Given the description of an element on the screen output the (x, y) to click on. 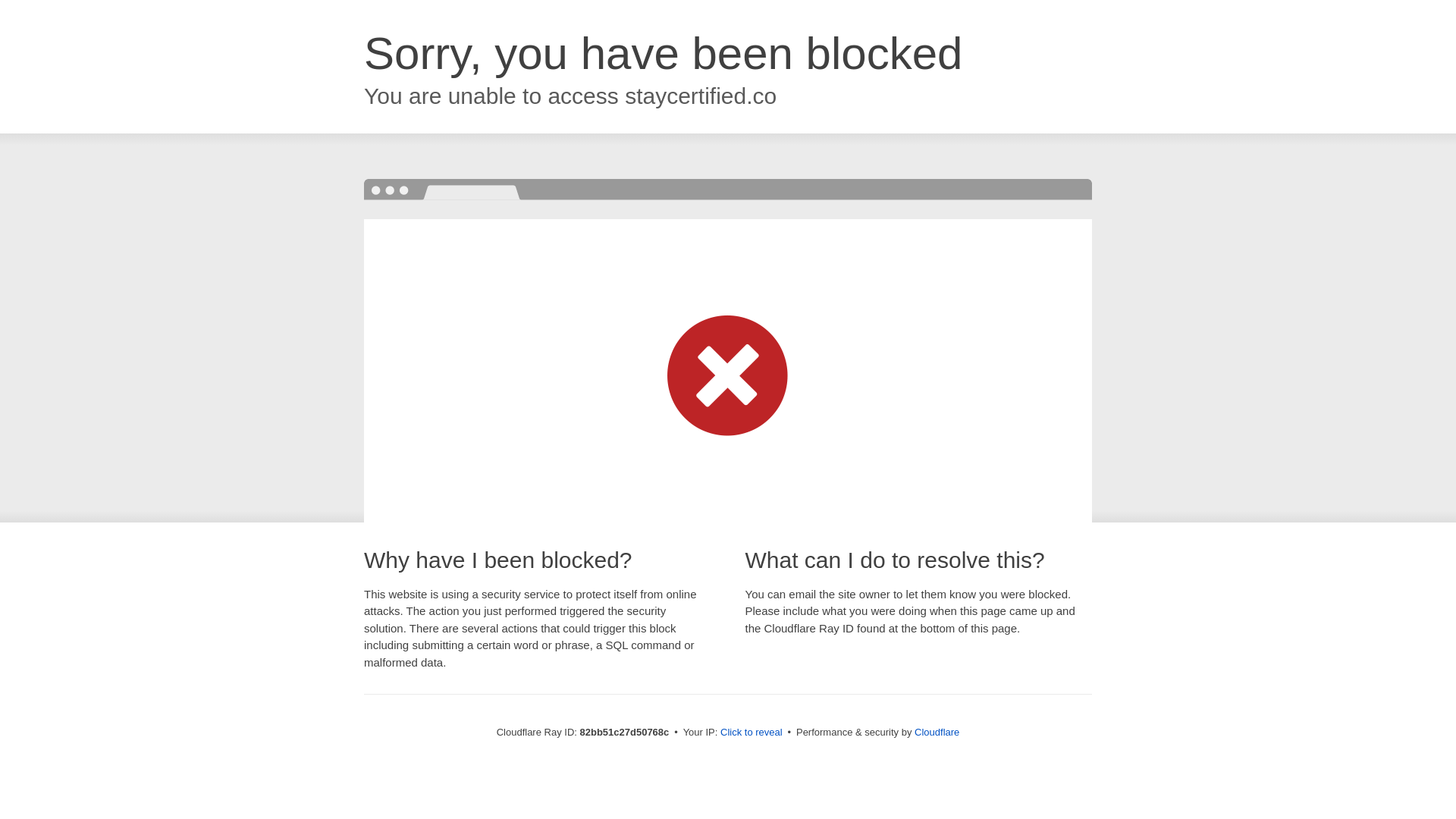
Cloudflare Element type: text (936, 731)
Click to reveal Element type: text (751, 732)
